Given the description of an element on the screen output the (x, y) to click on. 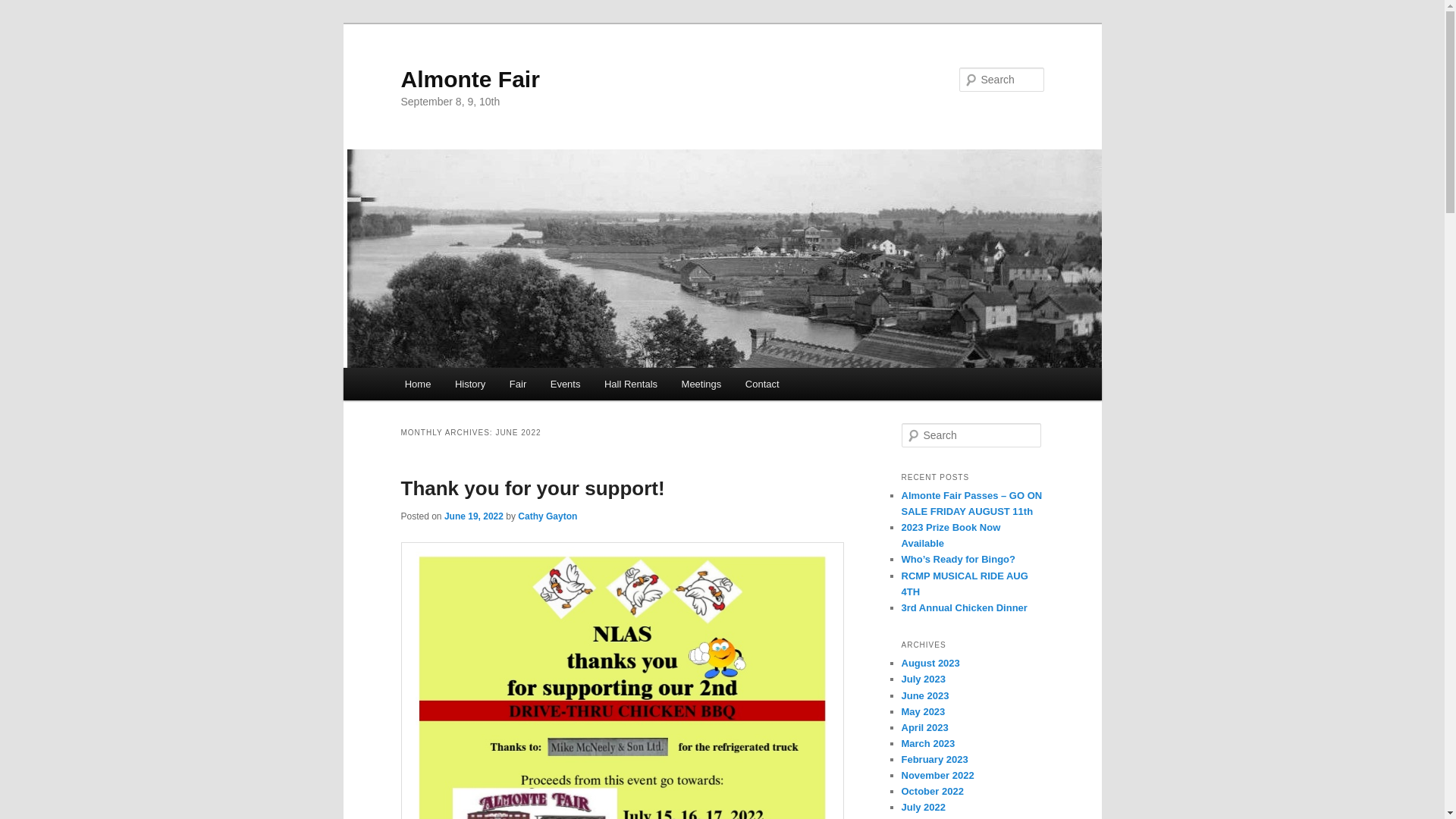
Hall Rentals Element type: text (630, 383)
Search Element type: text (20, 10)
Events Element type: text (565, 383)
Contact Element type: text (761, 383)
March 2023 Element type: text (927, 743)
February 2023 Element type: text (933, 759)
Search Element type: text (24, 8)
June 2023 Element type: text (924, 695)
3rd Annual Chicken Dinner Element type: text (963, 607)
Fair Element type: text (517, 383)
Skip to primary content Element type: text (22, 22)
History Element type: text (469, 383)
October 2022 Element type: text (931, 791)
July 2022 Element type: text (922, 806)
Thank you for your support! Element type: text (532, 487)
May 2023 Element type: text (922, 711)
July 2023 Element type: text (922, 678)
2023 Prize Book Now Available Element type: text (950, 535)
Home Element type: text (417, 383)
August 2023 Element type: text (929, 662)
November 2022 Element type: text (936, 775)
Meetings Element type: text (701, 383)
June 19, 2022 Element type: text (473, 516)
Almonte Fair Element type: text (469, 78)
April 2023 Element type: text (923, 727)
Cathy Gayton Element type: text (547, 516)
RCMP MUSICAL RIDE AUG 4TH Element type: text (963, 583)
